Given the description of an element on the screen output the (x, y) to click on. 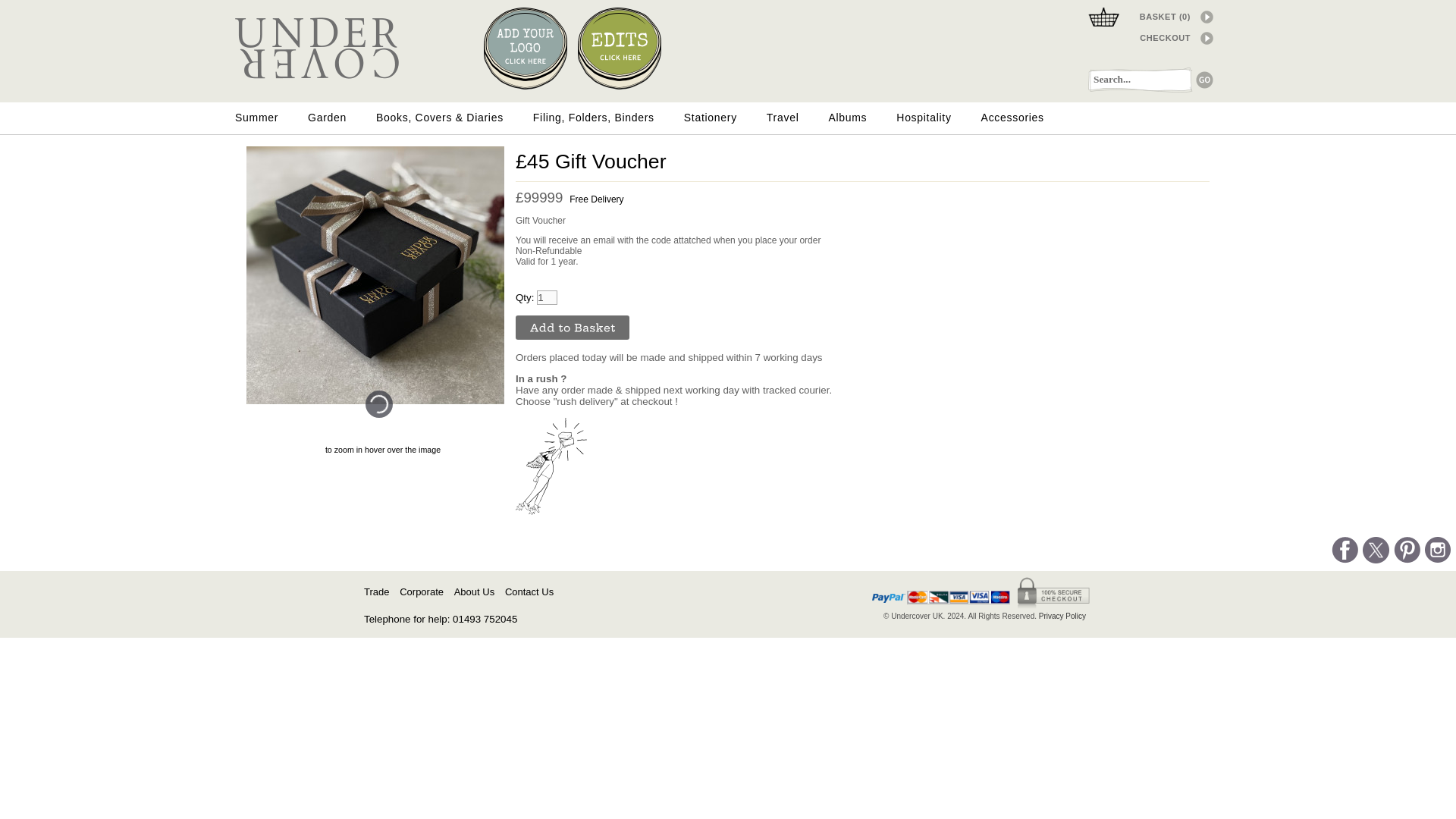
Filing, Folders, Binders (592, 117)
Go (1203, 79)
Go (1203, 79)
CHECKOUT (1139, 36)
1 (547, 297)
Garden (326, 117)
Search... (1140, 78)
Search... (1140, 78)
Summer (256, 117)
